Given the description of an element on the screen output the (x, y) to click on. 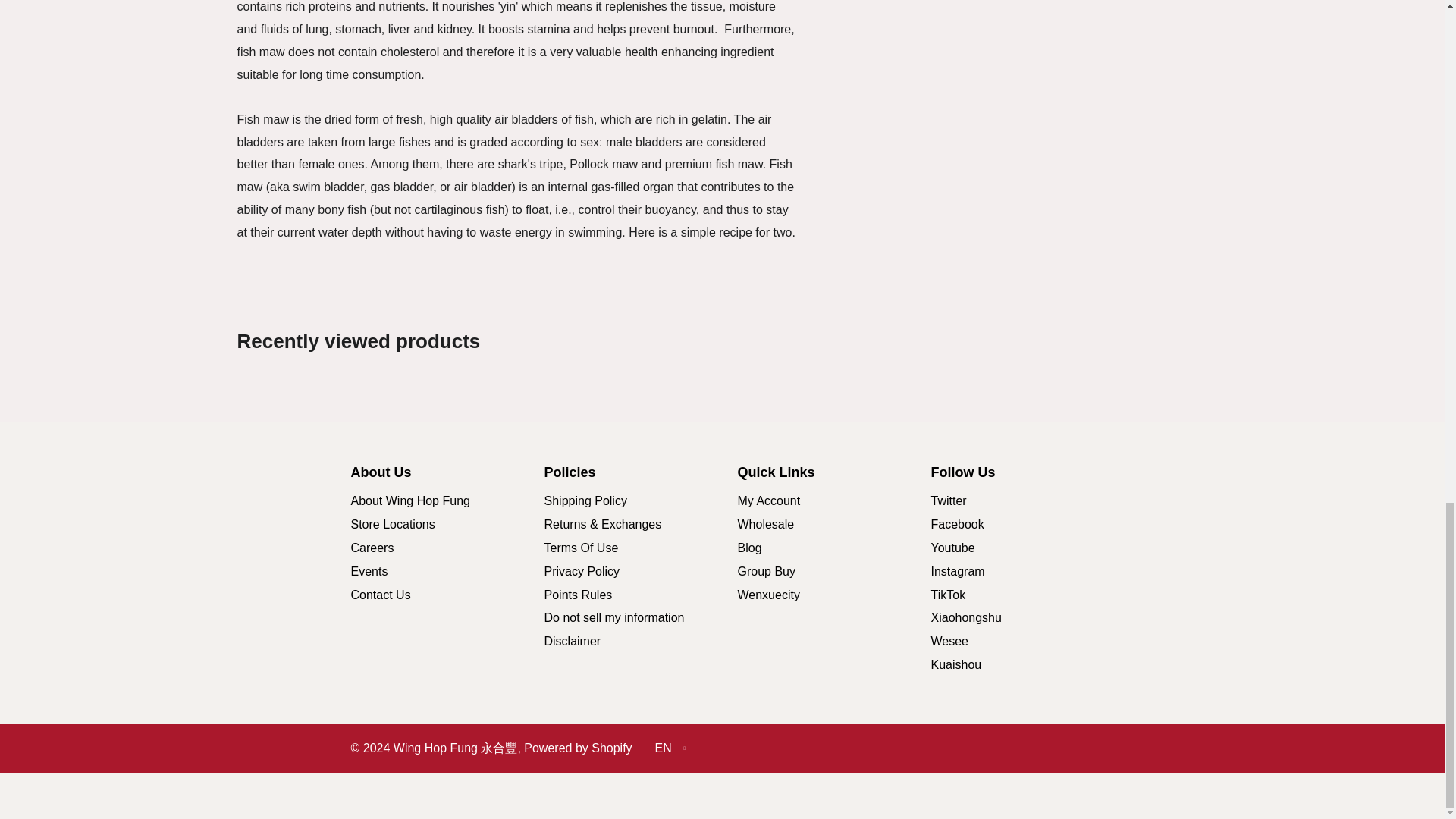
My Account (767, 500)
Wing Hop Fung Wholesale (764, 523)
Group Buy Information (765, 571)
